Given the description of an element on the screen output the (x, y) to click on. 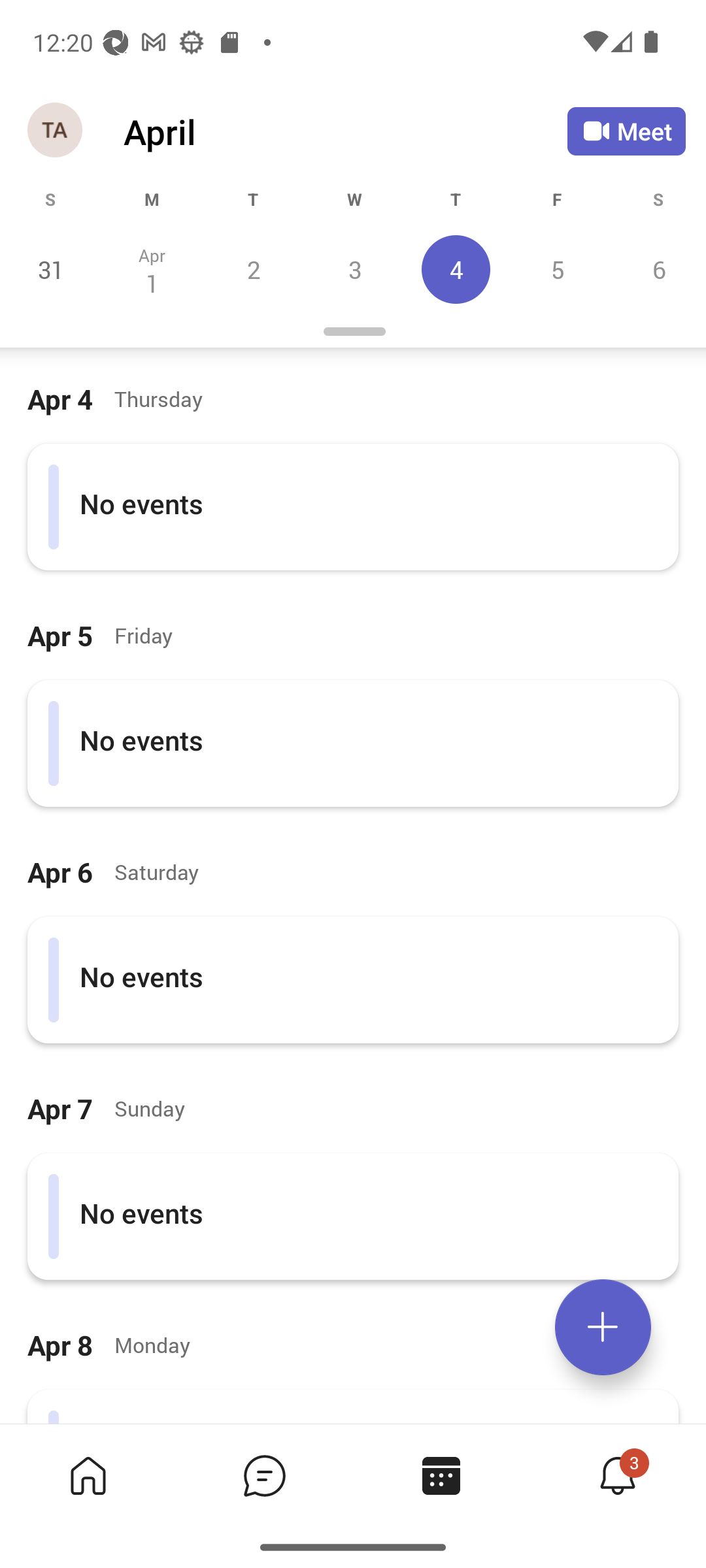
Navigation (56, 130)
Meet Meet now or join with an ID (626, 130)
April April Calendar Agenda View (345, 131)
Sunday, March 31 31 (50, 269)
Monday, April 1 Apr 1 (151, 269)
Tuesday, April 2 2 (253, 269)
Wednesday, April 3 3 (354, 269)
Thursday, April 4, Selected 4 (455, 269)
Friday, April 5 5 (556, 269)
Saturday, April 6 6 (656, 269)
Expand meetings menu (602, 1327)
Home tab,1 of 4, not selected (88, 1475)
Chat tab,2 of 4, not selected (264, 1475)
Calendar tab, 3 of 4 (441, 1475)
Activity tab,4 of 4, not selected, 3 new 3 (617, 1475)
